Given the description of an element on the screen output the (x, y) to click on. 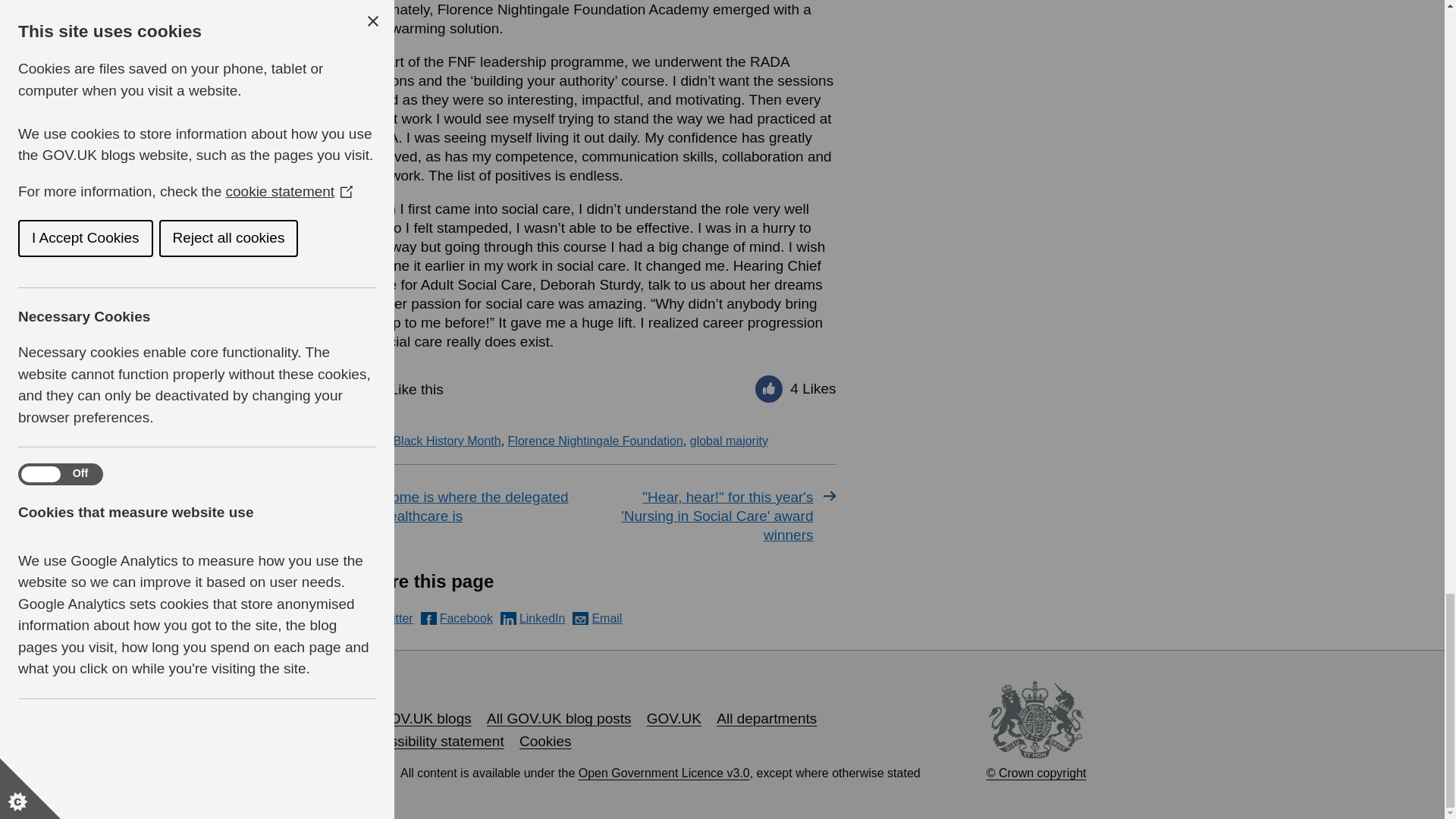
Home is where the delegated healthcare is (475, 506)
LinkedIn (533, 617)
Black History Month (446, 440)
global majority (729, 440)
Like this (402, 387)
Twitter (385, 617)
All GOV.UK blogs (414, 718)
Facebook (456, 617)
Florence Nightingale Foundation (595, 440)
